Given the description of an element on the screen output the (x, y) to click on. 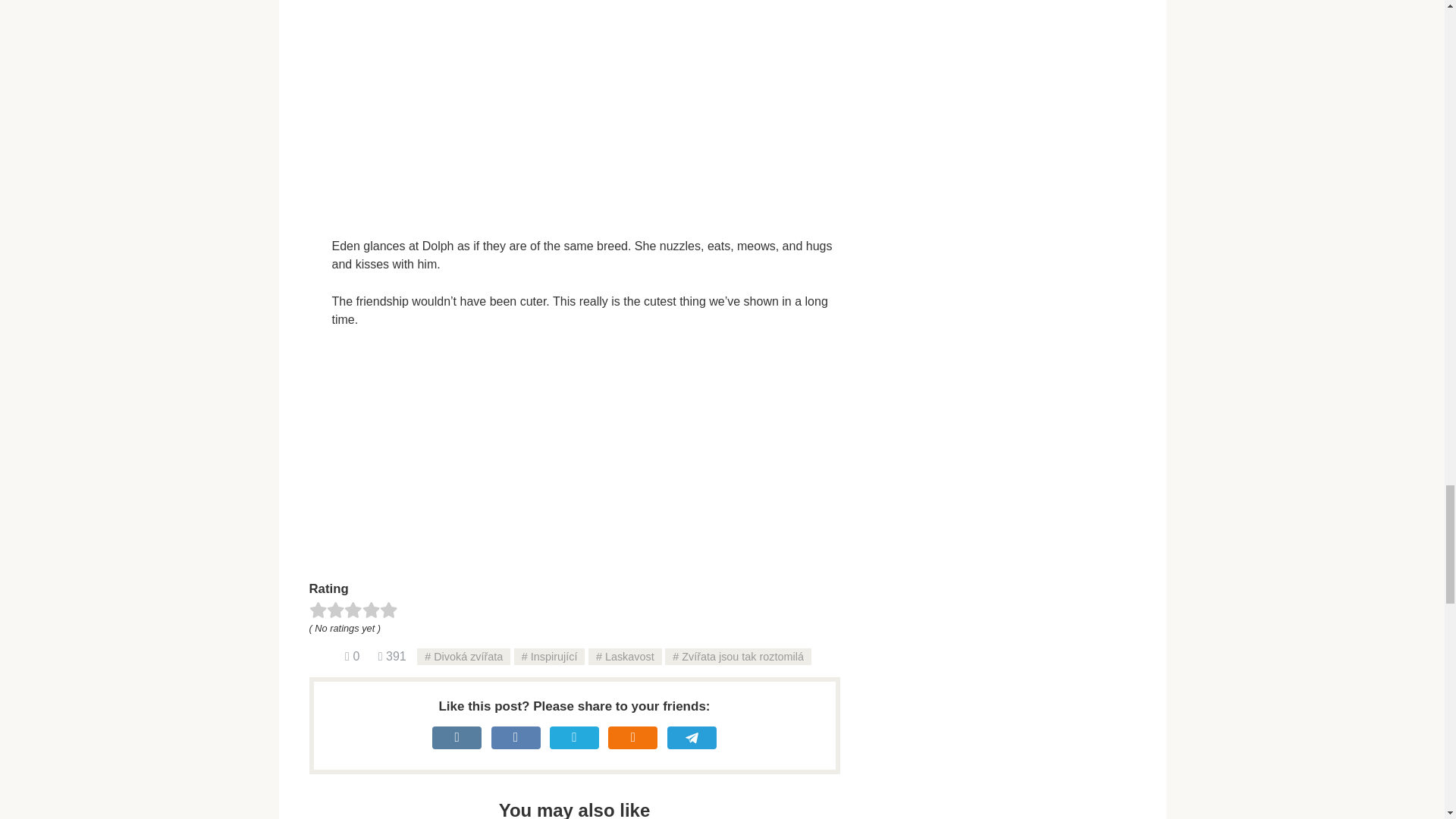
Views (392, 656)
Comments (352, 656)
Laskavost (625, 656)
